Given the description of an element on the screen output the (x, y) to click on. 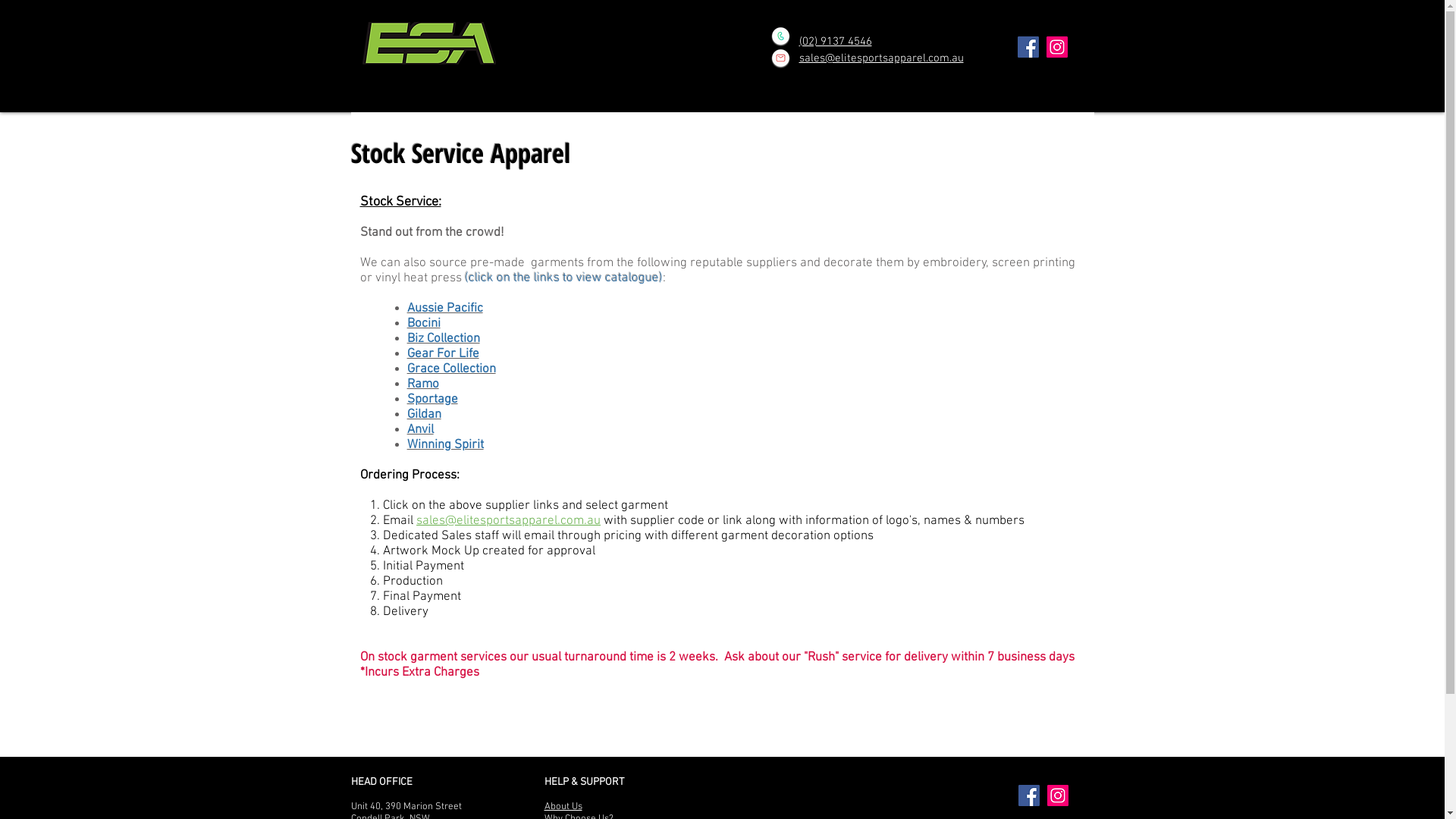
sales@elitesportsapparel.com.au Element type: text (508, 520)
Grace Collection Element type: text (451, 368)
Aussie Pacific Element type: text (445, 308)
sales@elitesportsapparel.com.au Element type: text (881, 58)
Winning Spirit Element type: text (445, 444)
About Us Element type: text (563, 806)
Gear For Life Element type: text (443, 353)
(02) 9137 4546 Element type: text (835, 41)
Sportage Element type: text (432, 399)
Bocini Element type: text (423, 323)
Anvil Element type: text (420, 429)
Biz Collection Element type: text (443, 338)
Gildan Element type: text (424, 414)
Ramo Element type: text (423, 384)
